Given the description of an element on the screen output the (x, y) to click on. 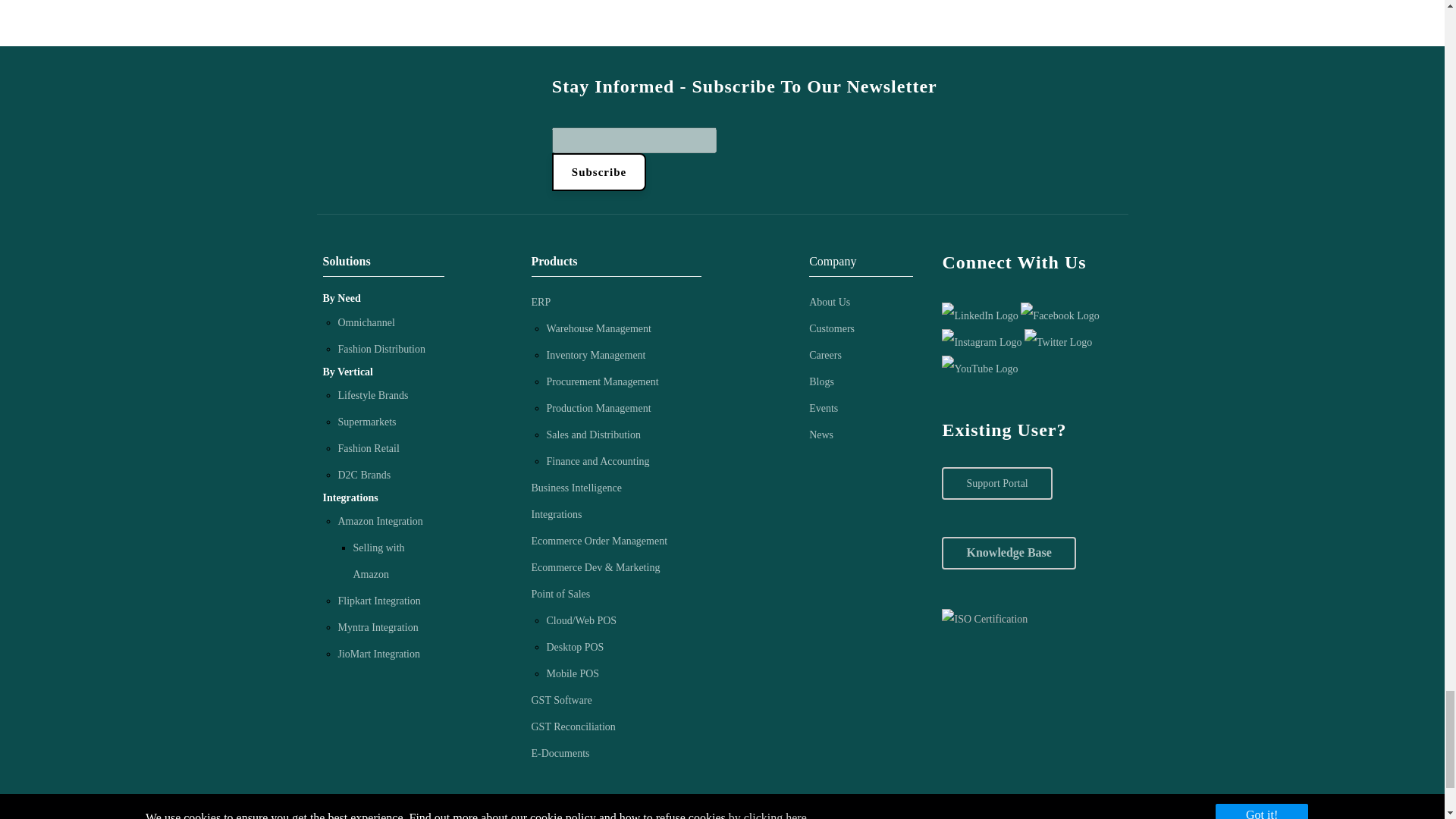
Subscribe (598, 171)
